Given the description of an element on the screen output the (x, y) to click on. 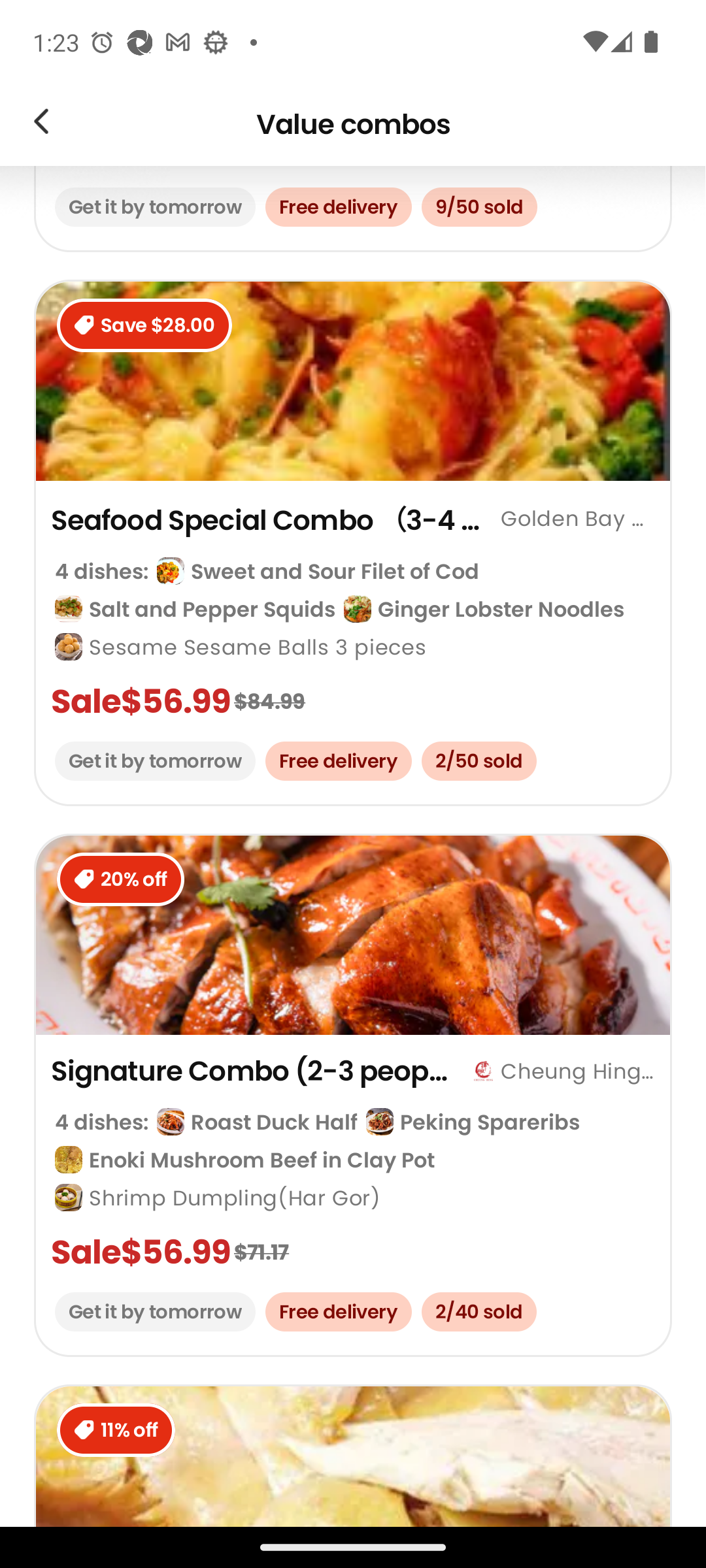
Image (41, 124)
